Given the description of an element on the screen output the (x, y) to click on. 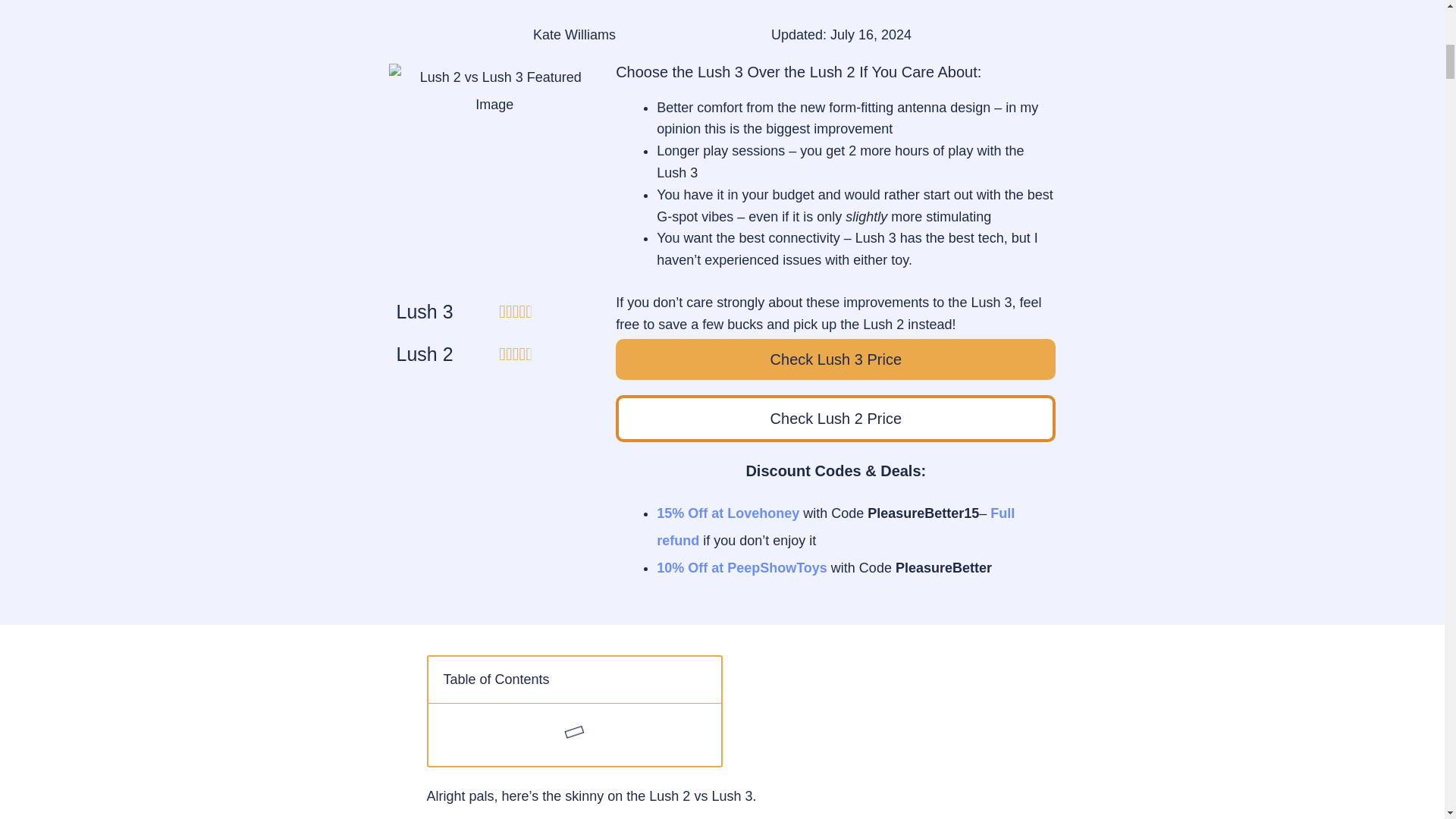
Full refund (835, 526)
Check Lush 3 Price (835, 359)
Check Lush 2 Price (835, 418)
Kate Williams (573, 34)
